Given the description of an element on the screen output the (x, y) to click on. 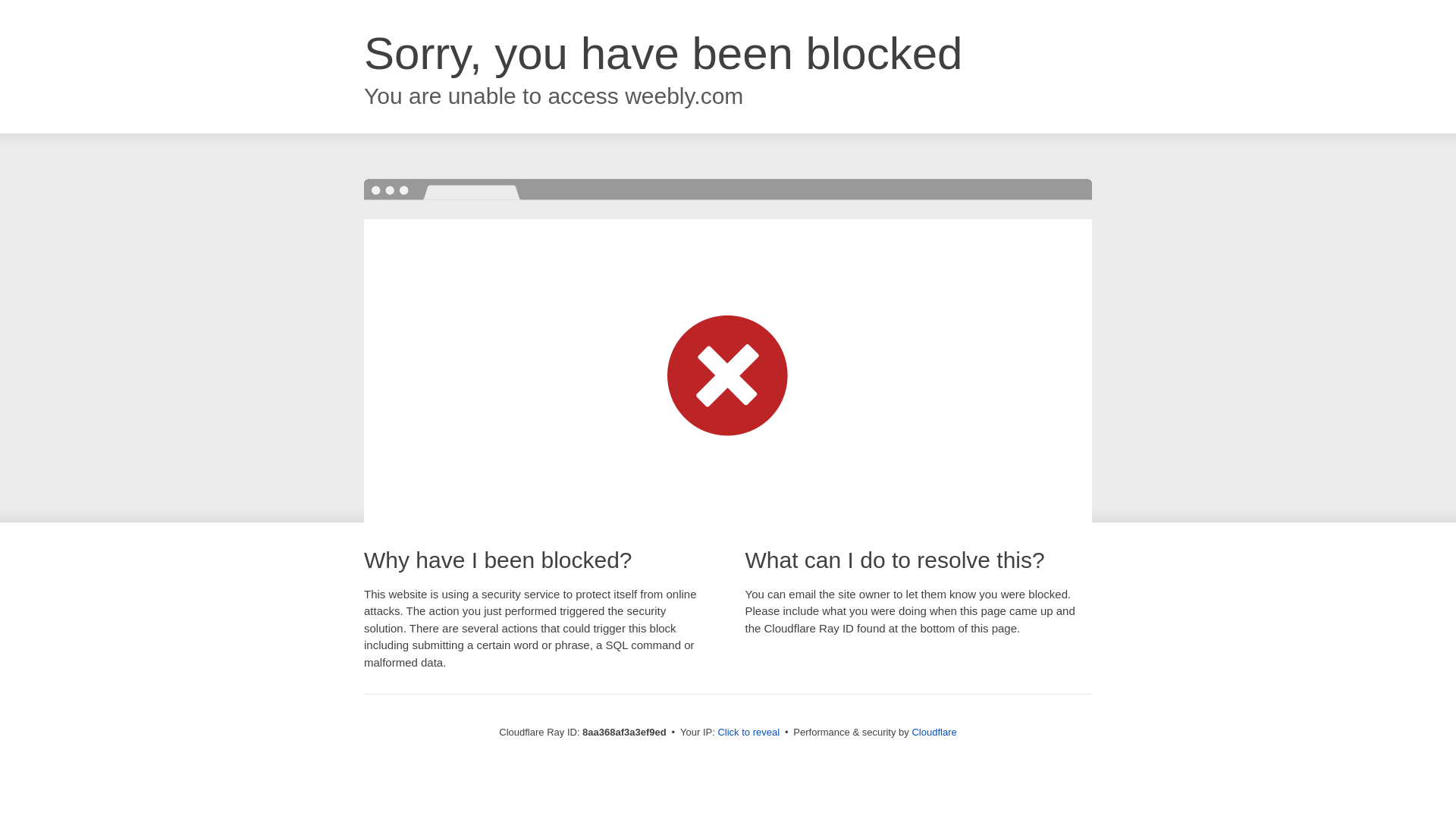
Click to reveal (747, 732)
Cloudflare (933, 731)
